Given the description of an element on the screen output the (x, y) to click on. 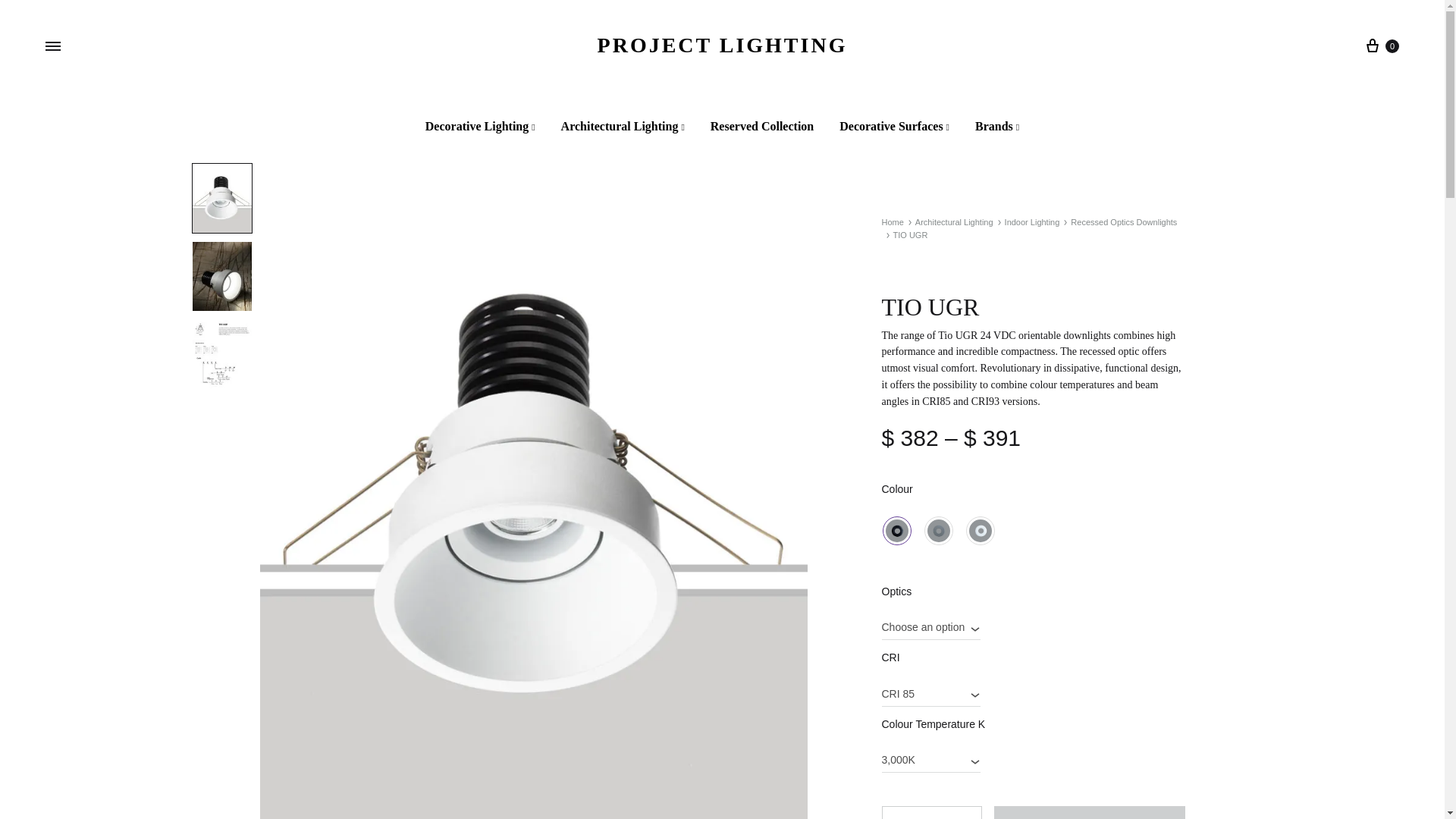
Decorative Lighting (480, 126)
PROJECT LIGHTING (721, 45)
Architectural Lighting (622, 126)
Reserved Collection (761, 126)
1 (931, 812)
Recessed Optics Downlights (1123, 221)
Indoor Lighting (1380, 45)
Home (1031, 221)
Decorative Surfaces (891, 221)
Brands (894, 126)
Architectural Lighting (997, 126)
